Given the description of an element on the screen output the (x, y) to click on. 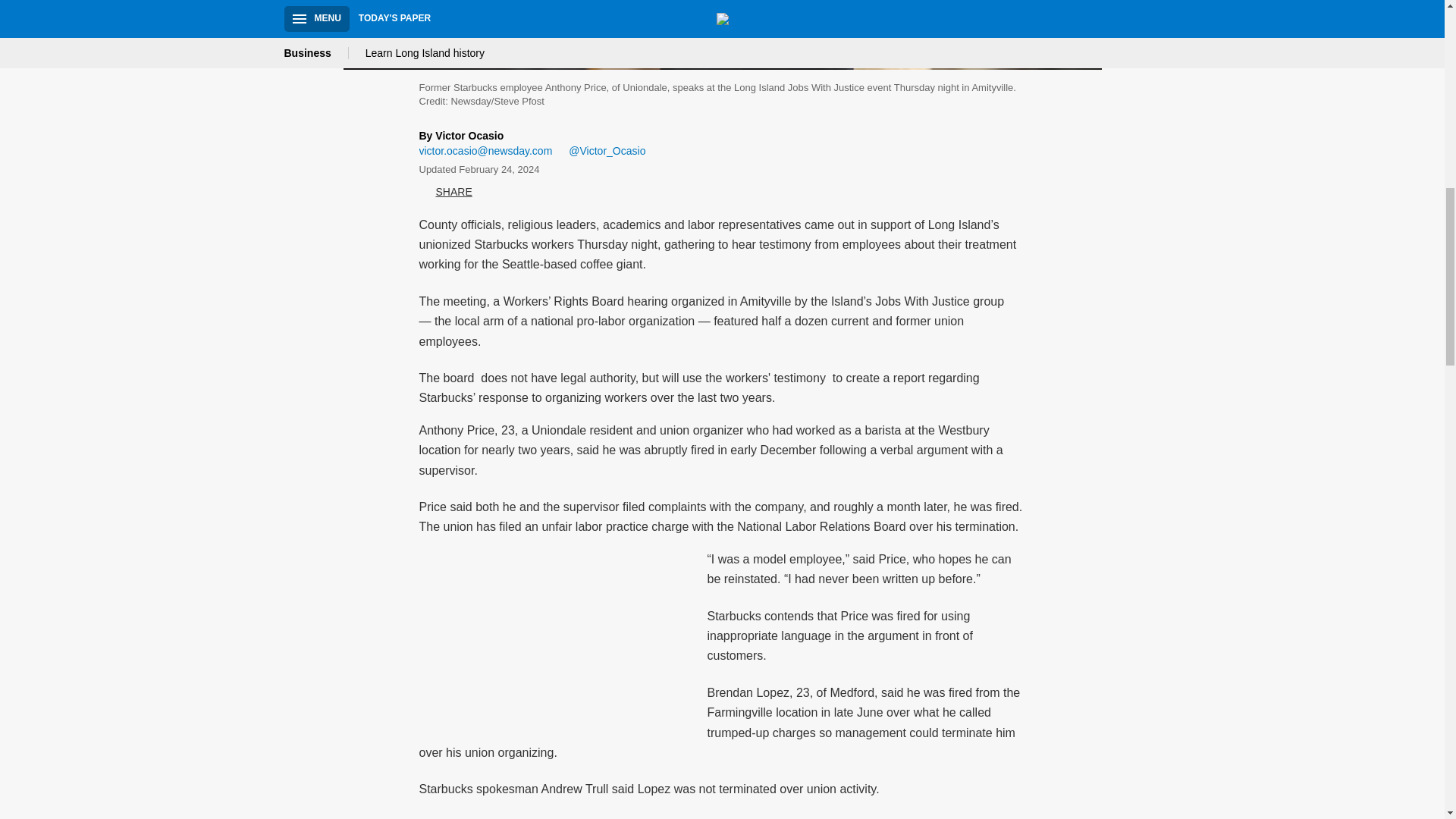
SHARE (445, 192)
